Given the description of an element on the screen output the (x, y) to click on. 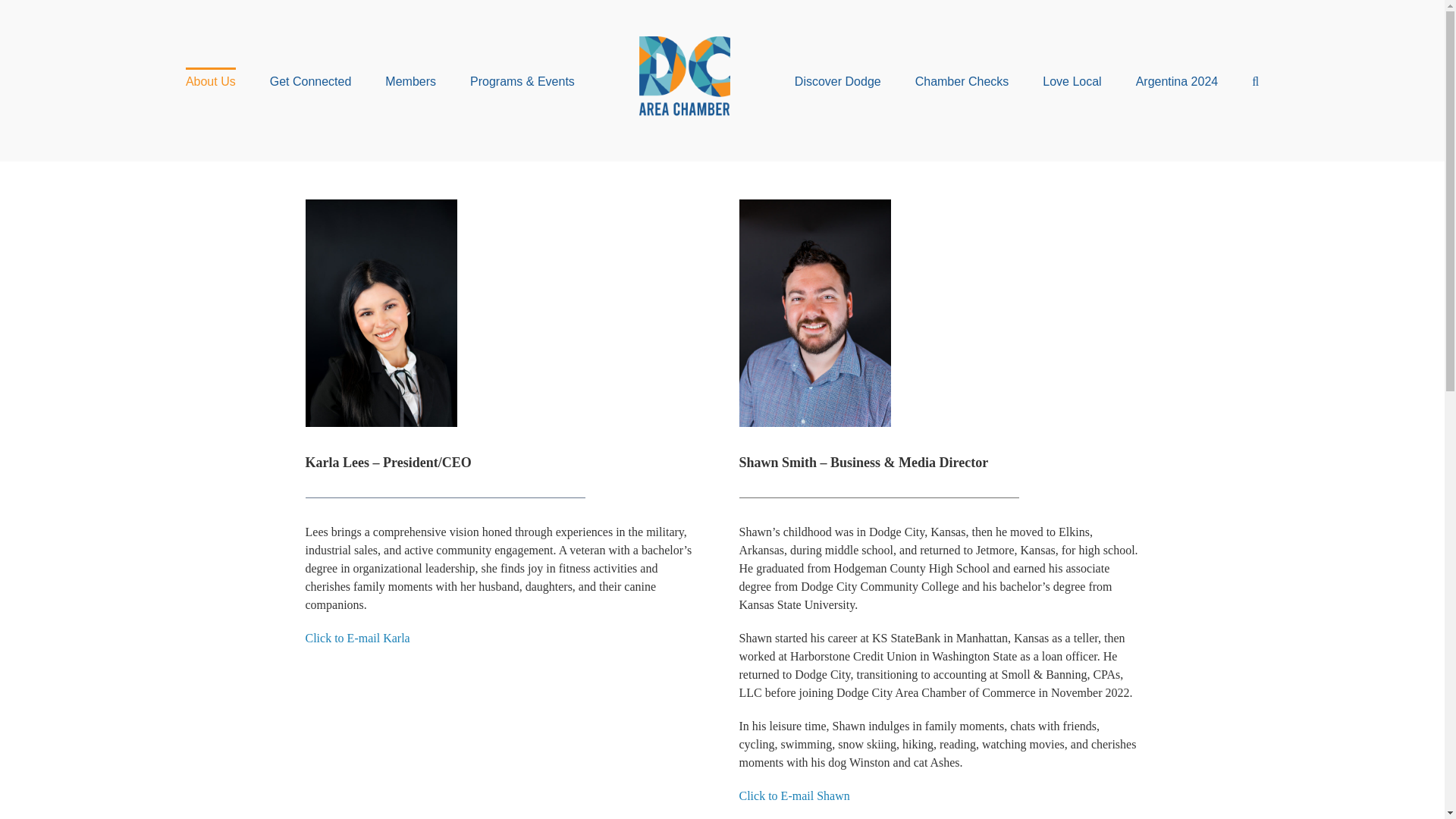
Get Connected (310, 80)
Members (410, 80)
About Us (210, 80)
Argentina 2024 (1176, 80)
Discover Dodge (837, 80)
Love Local (1071, 80)
Chamber Checks (962, 80)
